Given the description of an element on the screen output the (x, y) to click on. 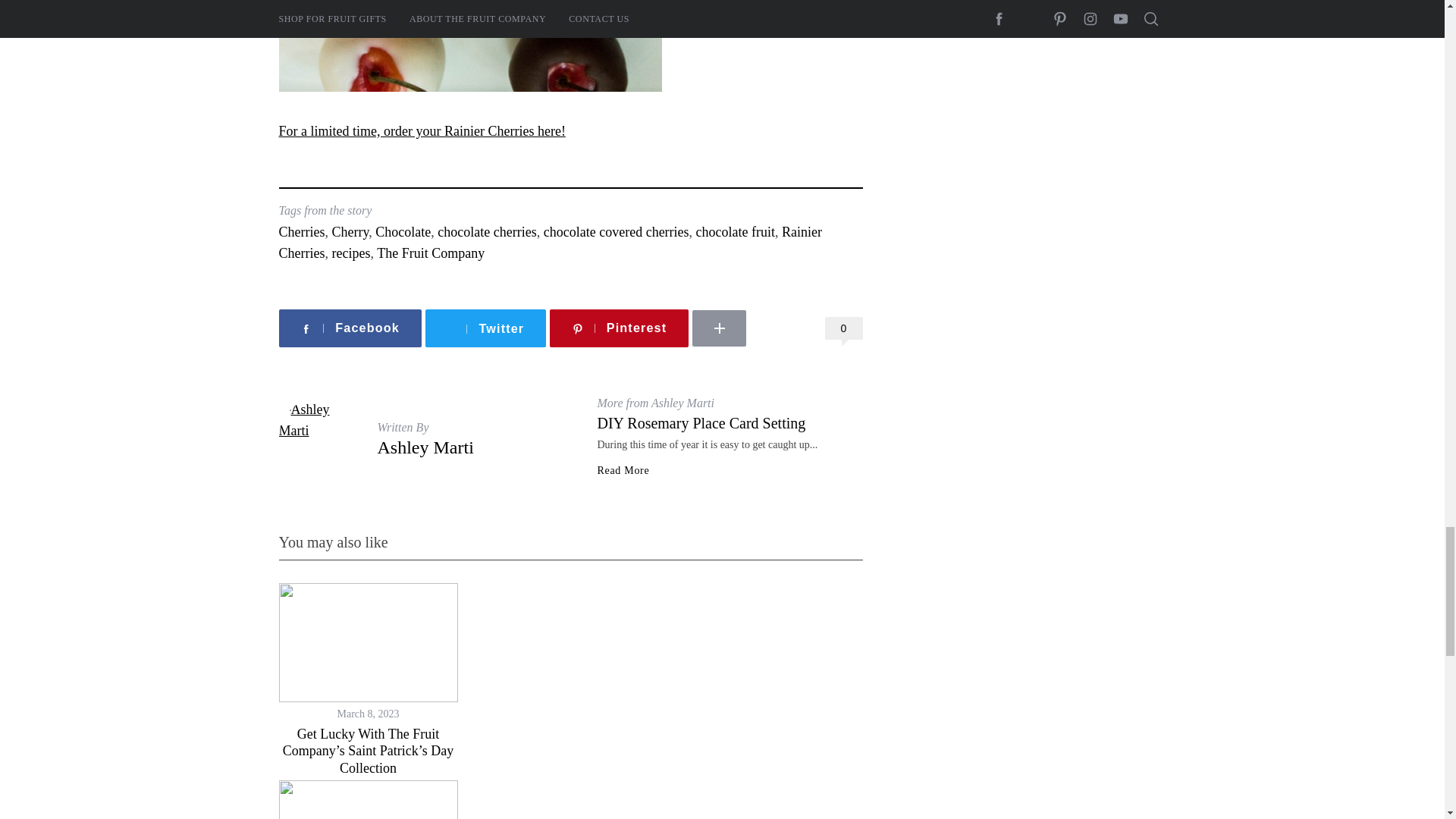
Pinterest (619, 328)
The Fruit Company (430, 253)
Twitter (485, 328)
For a limited time, order your Rainier Cherries here! (422, 130)
Rainier Cherries (550, 242)
LINKEDIN (764, 303)
chocolate fruit (734, 231)
recipes (350, 253)
Facebook (350, 328)
chocolate cherries (486, 231)
